Given the description of an element on the screen output the (x, y) to click on. 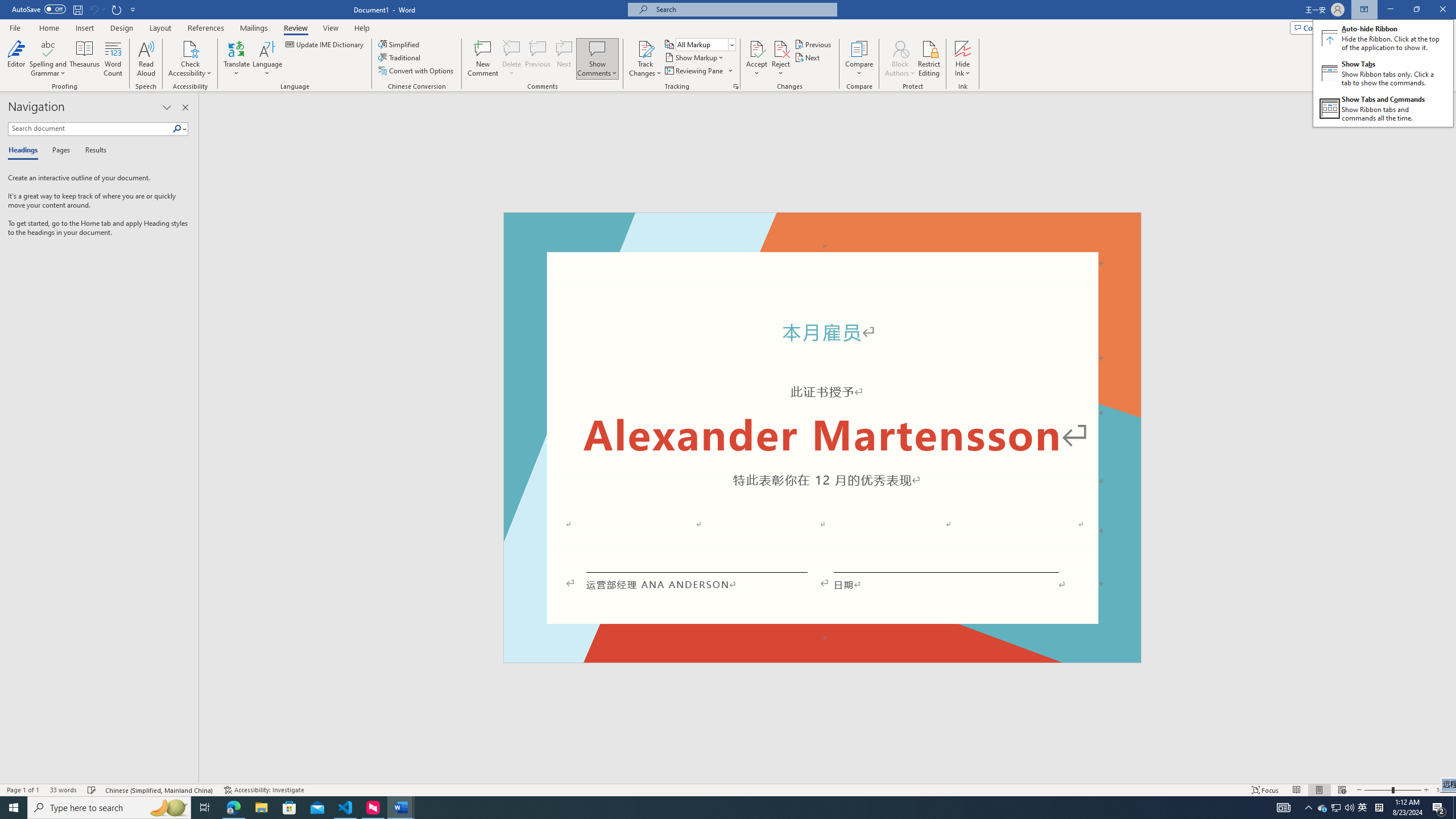
Delete (511, 58)
Word - 2 running windows (400, 807)
Spelling and Grammar Check Checking (91, 790)
Notification Chevron (1308, 807)
Spelling and Grammar (48, 48)
Action Center, 2 new notifications (1439, 807)
Next (808, 56)
Editor (16, 58)
Language Chinese (Simplified, Mainland China) (159, 790)
